Given the description of an element on the screen output the (x, y) to click on. 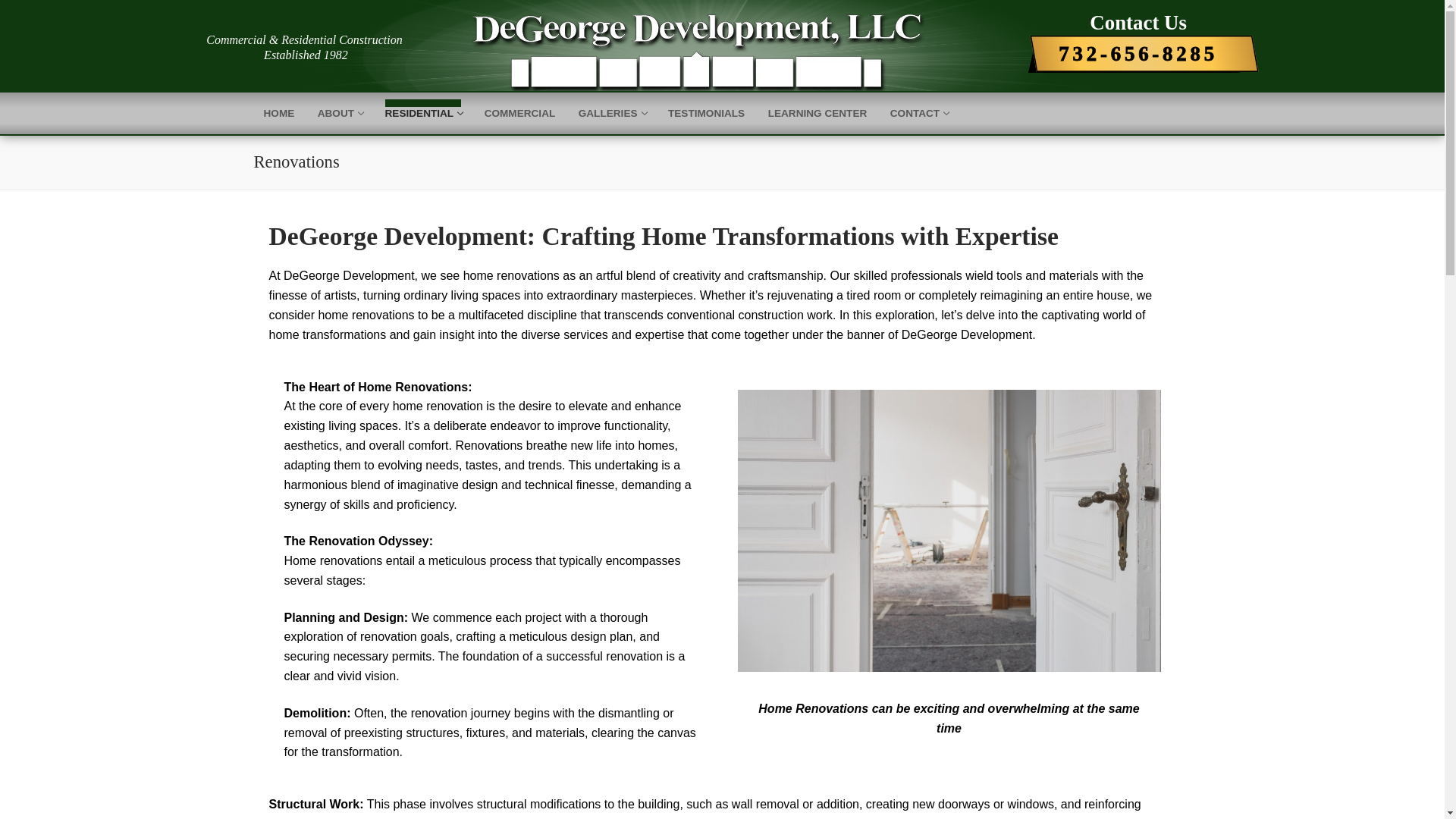
732-656-8285 (612, 113)
HOME (1157, 56)
LEARNING CENTER (339, 113)
TESTIMONIALS (278, 113)
COMMERCIAL (817, 113)
